Given the description of an element on the screen output the (x, y) to click on. 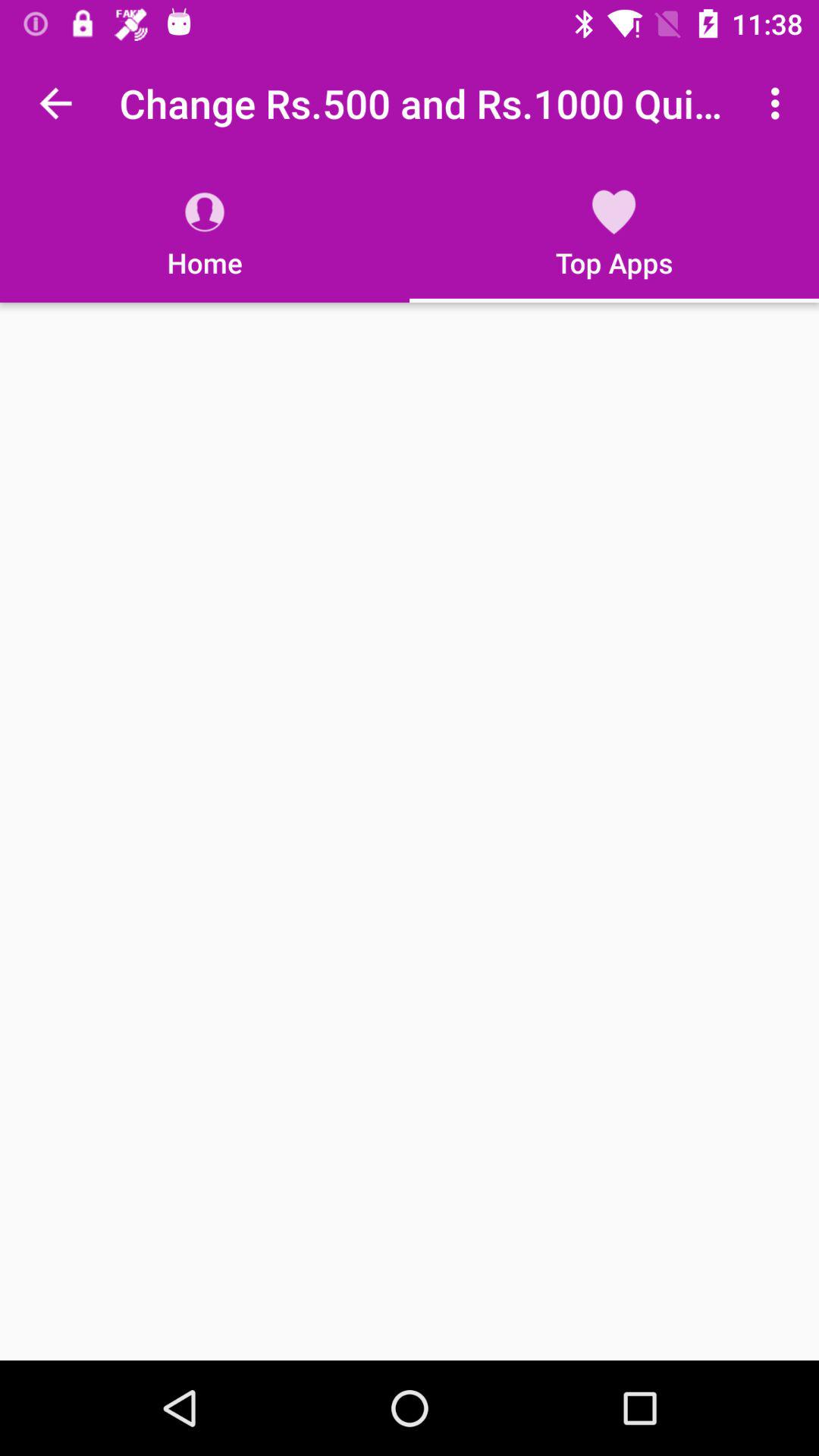
choose app to the right of change rs 500 app (779, 103)
